Given the description of an element on the screen output the (x, y) to click on. 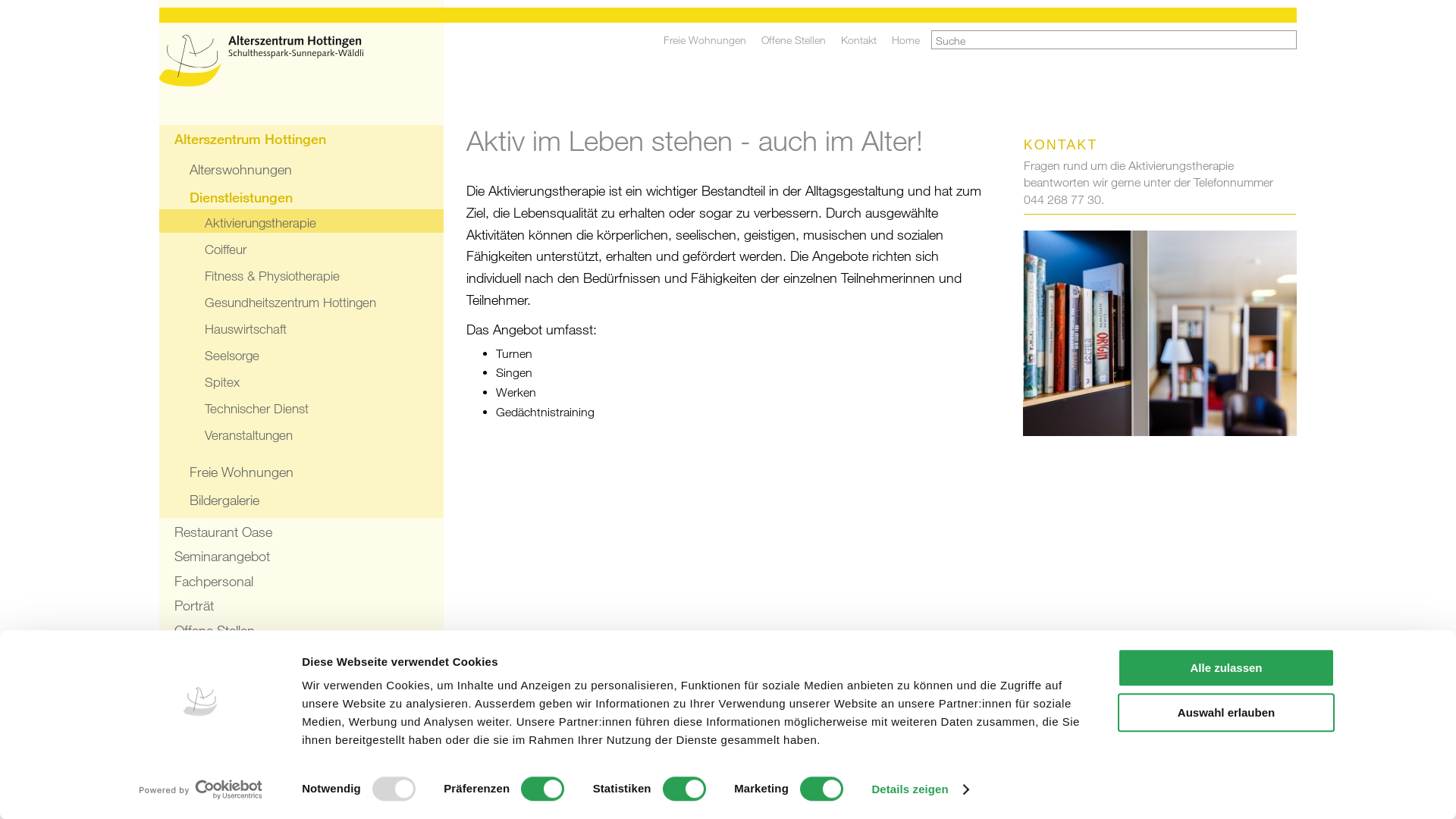
Auswahl erlauben Element type: text (1225, 712)
info@alterszentrum-hottingen.ch Element type: text (1221, 728)
Seminarangebot Element type: text (301, 554)
Fitness & Physiotherapie Element type: text (301, 273)
Aktivierungstherapie Element type: text (301, 220)
Freie Wohnungen Element type: text (301, 469)
Alle zulassen Element type: text (1225, 667)
Gesundheitszentrum Hottingen Element type: text (301, 300)
Veranstaltungen Element type: text (301, 433)
Fachpersonal Element type: text (301, 579)
Technischer Dienst Element type: text (301, 406)
Spitex Element type: text (301, 380)
Freie Wohnungen Element type: text (704, 39)
Details zeigen Element type: text (919, 789)
Kontakt Element type: text (858, 39)
Kontakt & Anreise Element type: text (301, 654)
Hauswirtschaft Element type: text (301, 326)
Home Element type: text (905, 39)
Impressum Element type: text (184, 728)
Bildergalerie Element type: text (301, 497)
Coiffeur Element type: text (301, 247)
Offene Stellen Element type: text (301, 629)
Restaurant Oase Element type: text (301, 530)
Dienstleistungen Element type: text (301, 194)
Seelsorge Element type: text (301, 353)
Alterswohnungen Element type: text (301, 166)
Zur Startseite wechseln Element type: hover (301, 64)
Alterszentrum Hottingen Element type: text (301, 137)
Offene Stellen Element type: text (793, 39)
